Given the description of an element on the screen output the (x, y) to click on. 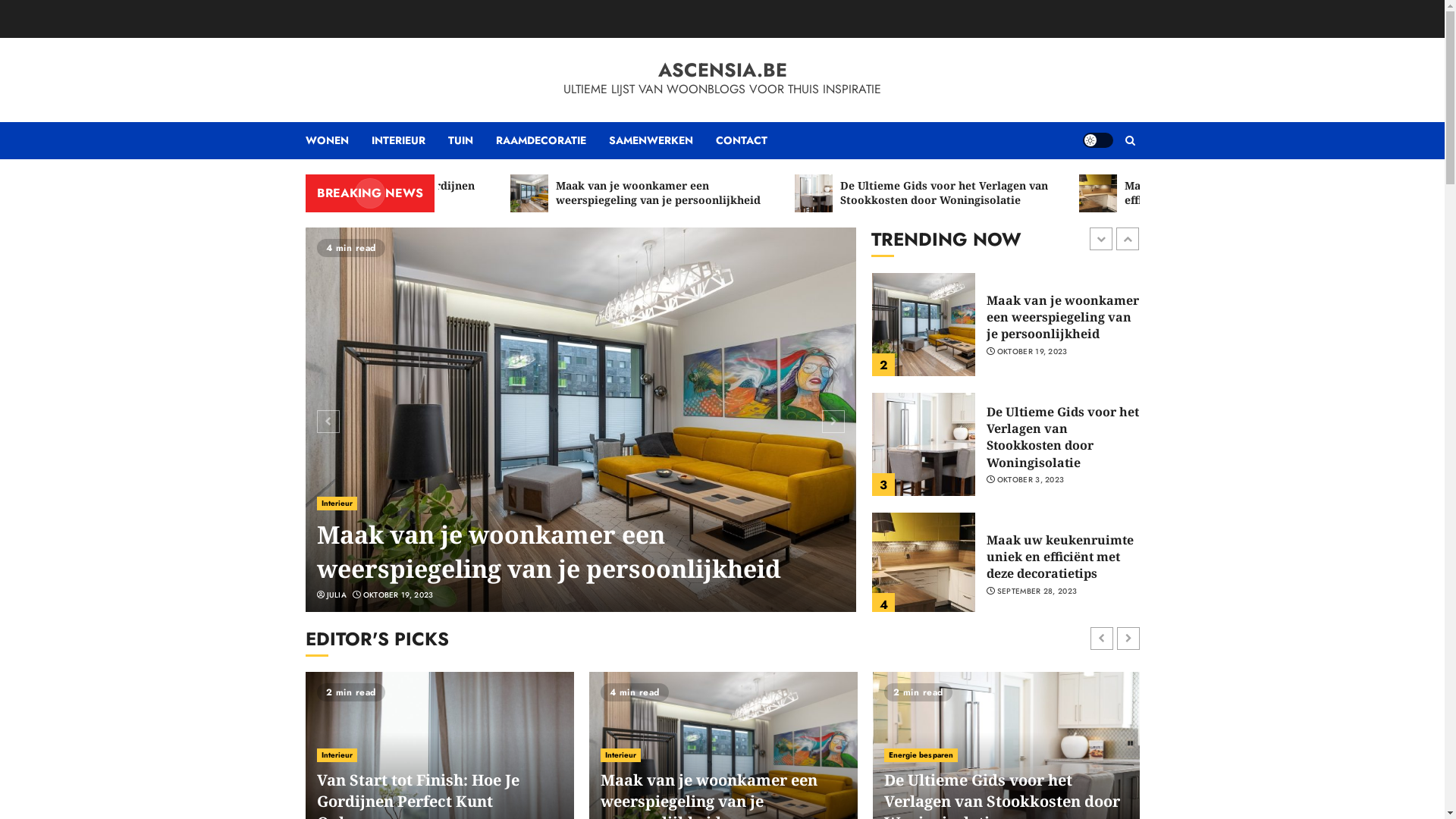
ASCENSIA.BE Element type: text (722, 69)
OKTOBER 3, 2023 Element type: text (1030, 599)
Interieur Element type: text (620, 755)
OKTOBER 19, 2023 Element type: text (1032, 471)
Zoeken Element type: text (1100, 186)
Search Element type: hover (1129, 140)
TUIN Element type: text (471, 140)
Van Start tot Finish: Hoe Je Gordijnen Perfect Kunt Ophangen Element type: text (477, 193)
Energie besparen Element type: text (921, 755)
SAMENWERKEN Element type: text (661, 140)
RAAMDECORATIE Element type: text (551, 140)
INTERIEUR Element type: text (409, 140)
NOVEMBER 8, 2023 Element type: text (400, 594)
Van Start tot Finish: Hoe Je Gordijnen Perfect Kunt Ophangen Element type: text (1060, 317)
Interieur Element type: text (336, 755)
Light/Dark Button Element type: text (1097, 139)
Van Start tot Finish: Hoe Je Gordijnen Perfect Kunt Ophangen Element type: text (545, 551)
Interieur Element type: text (336, 503)
CONTACT Element type: text (741, 140)
WONEN Element type: text (337, 140)
JULIA Element type: text (336, 594)
NOVEMBER 8, 2023 Element type: text (1034, 351)
